Given the description of an element on the screen output the (x, y) to click on. 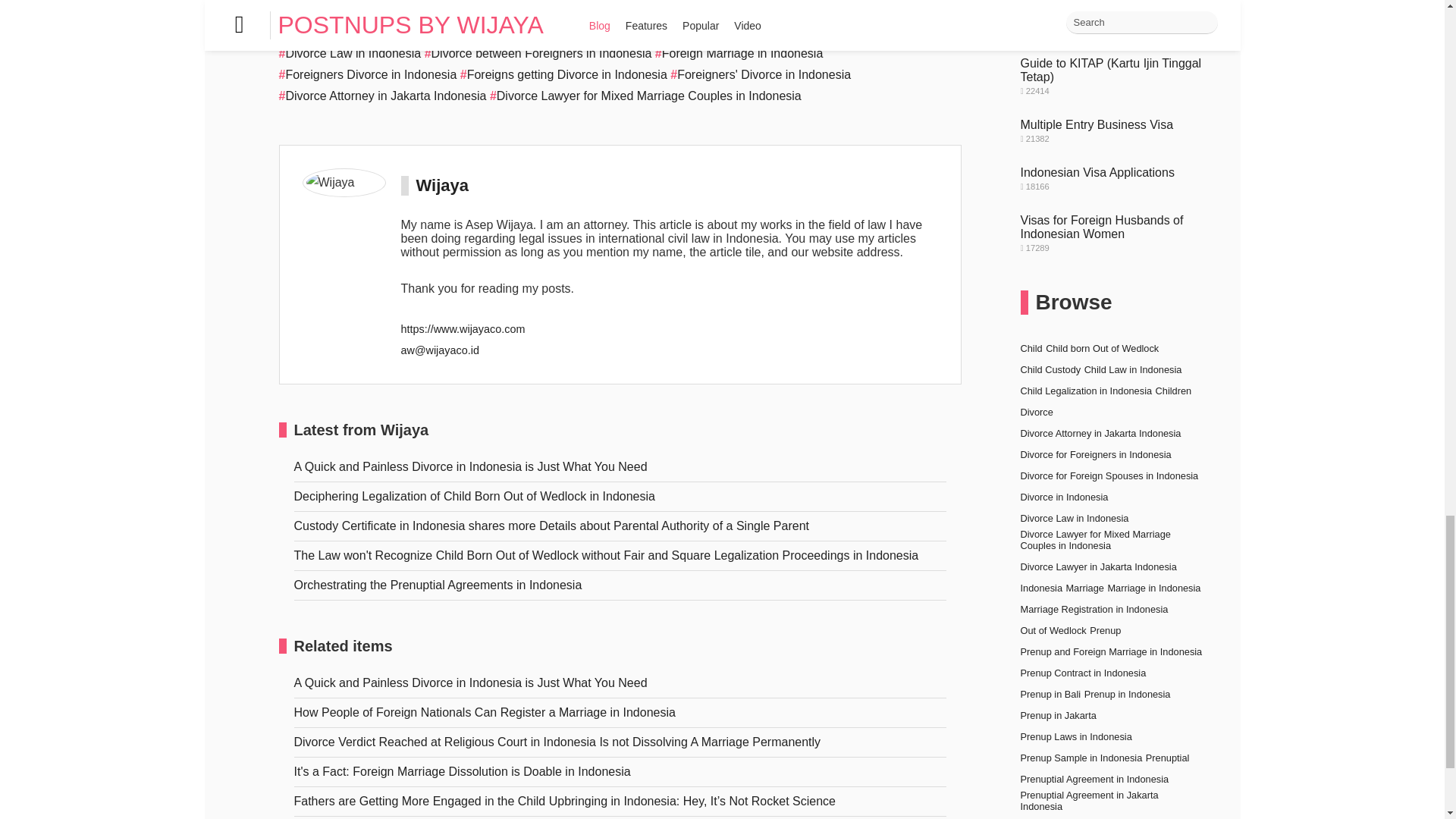
Foreigners' Divorce in Indonesia (759, 74)
Dissolving Foreign Marriage in Indonesia (392, 10)
Foreign Marriage Dissolved in Indonesia (620, 10)
Divorce for Foreigners in Indonesia (833, 10)
Divorce for Foreign Spouses in Indonesia (818, 31)
Divorce Attorney in Jakarta Indonesia (382, 95)
Foreign Marriage and Divorce in Indonesia (397, 31)
Divorce between Foreigners in Indonesia (538, 52)
Divorce Procedures in Indonesia (609, 31)
Wijaya (441, 185)
Divorce Law in Indonesia (350, 52)
Foreign Marriage in Indonesia (738, 52)
Foreigns getting Divorce in Indonesia (563, 74)
Divorce Lawyer for Mixed Marriage Couples in Indonesia (645, 95)
Foreigners Divorce in Indonesia (368, 74)
